Given the description of an element on the screen output the (x, y) to click on. 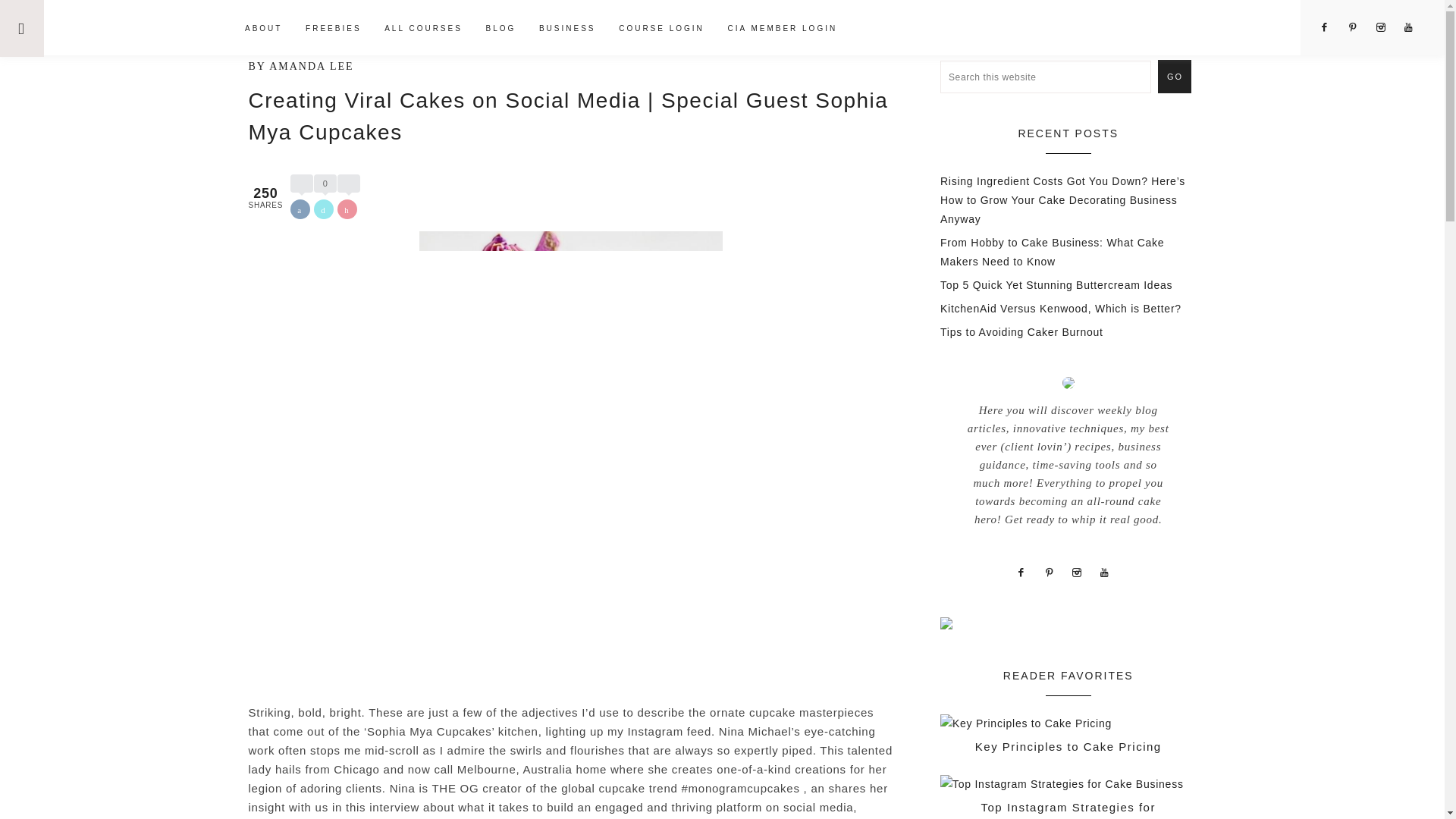
COURSE LOGIN (661, 29)
AMANDA LEE (311, 66)
SUGAR SUGAR CAKE SCHOOL (141, 27)
Youtbe (1109, 571)
GO (1174, 76)
ALL COURSES (422, 29)
Instagram (1414, 27)
Share on Twitter (323, 209)
Instagram (1386, 27)
Share on Pinterest (346, 209)
